Given the description of an element on the screen output the (x, y) to click on. 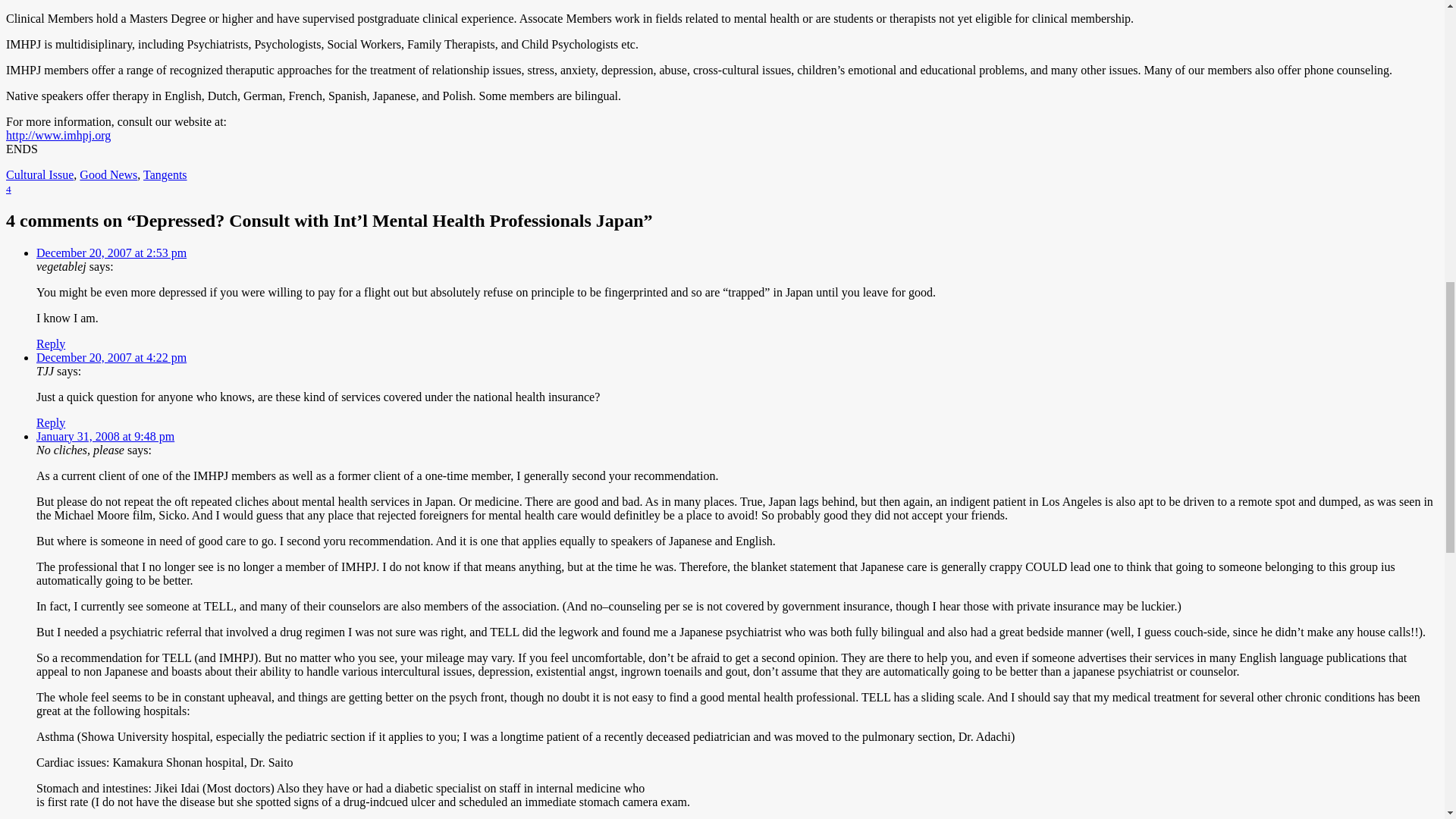
Good News (108, 174)
Reply (50, 342)
December 20, 2007 at 2:53 pm (111, 251)
Tangents (164, 174)
January 31, 2008 at 9:48 pm (105, 435)
Cultural Issue (39, 174)
Reply (50, 421)
December 20, 2007 at 4:22 pm (111, 356)
